Given the description of an element on the screen output the (x, y) to click on. 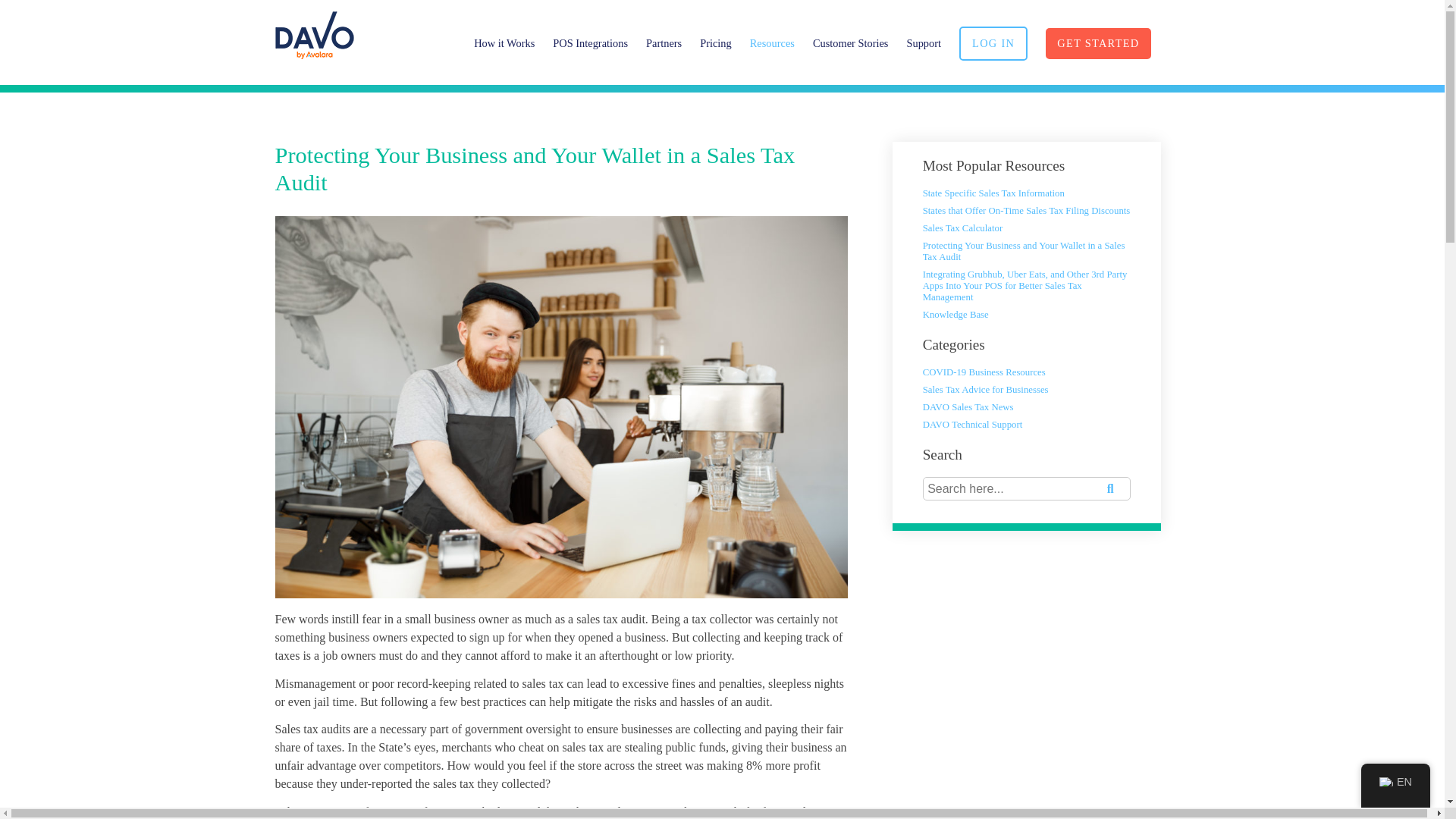
Pricing (716, 42)
GET STARTED (1097, 43)
State Specific Sales Tax Information (993, 193)
Customer Stories (850, 42)
Knowledge Base (955, 314)
States that Offer On-Time Sales Tax Filing Discounts (1027, 210)
How it Works (504, 42)
Sales Tax Calculator (963, 227)
DAVO Sales Tax News (968, 407)
